Given the description of an element on the screen output the (x, y) to click on. 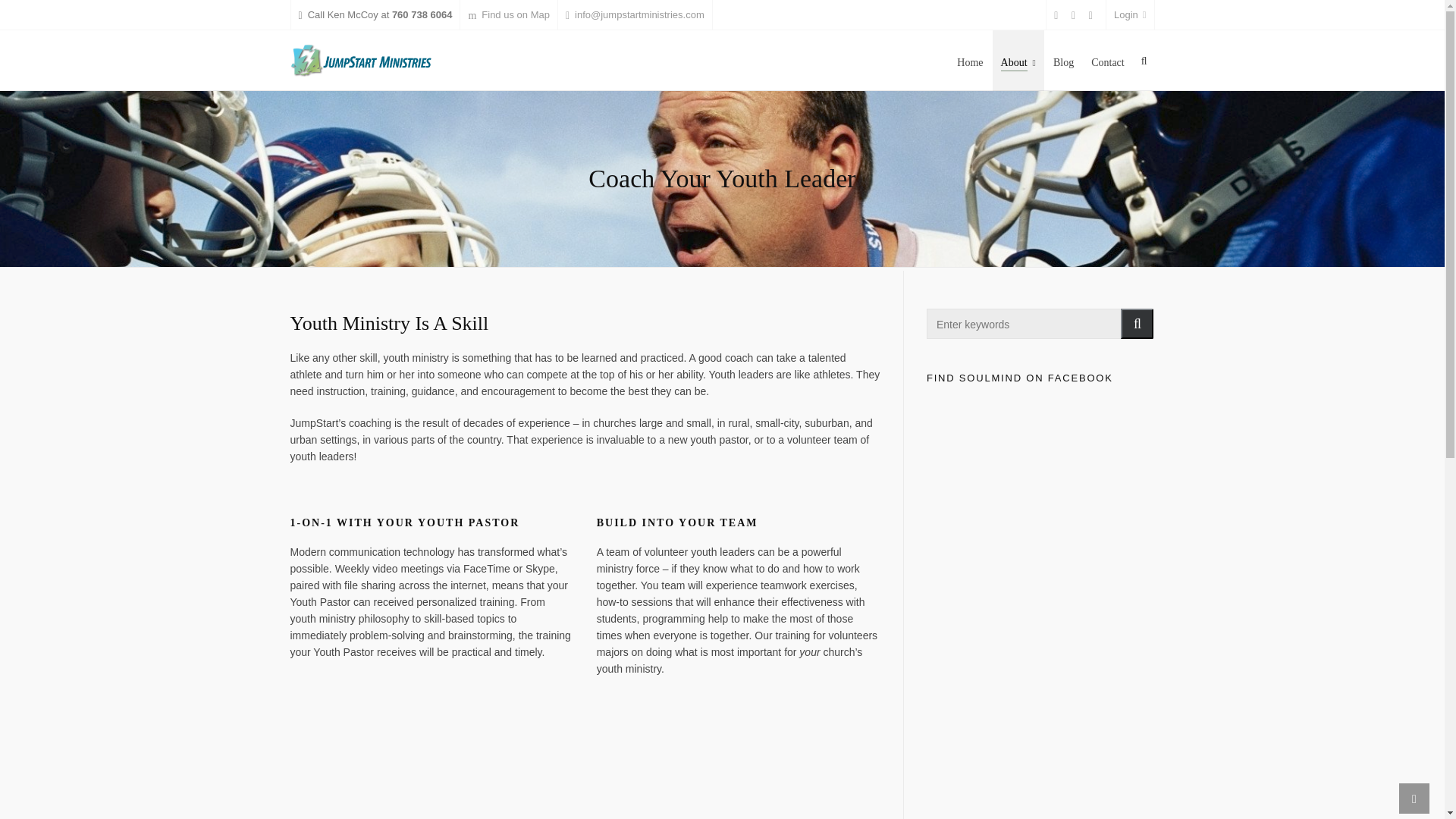
Contact (1107, 60)
Blog (1063, 60)
Home (970, 60)
Tim Krause (584, 769)
About (1017, 60)
Login (1130, 15)
Find us on Map (508, 15)
